Given the description of an element on the screen output the (x, y) to click on. 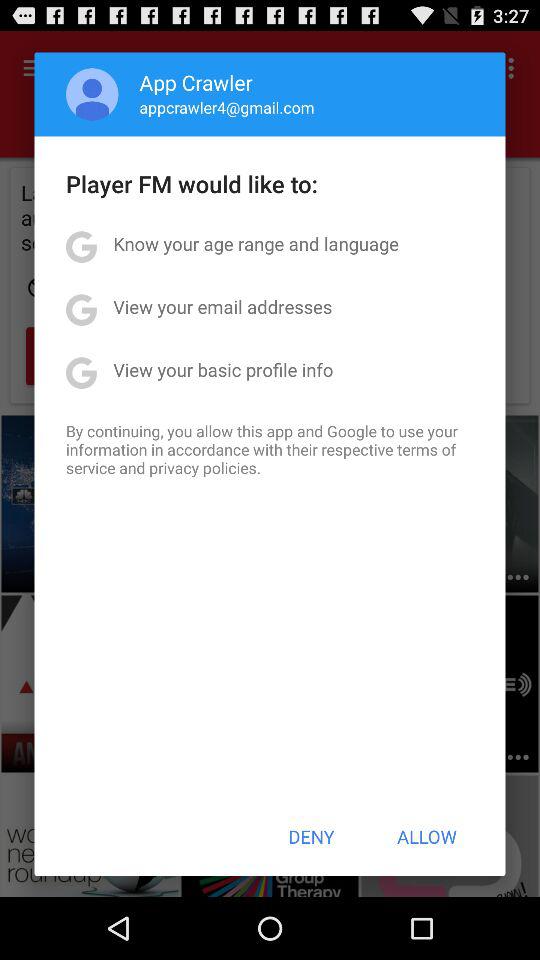
open the item to the left of the app crawler (92, 94)
